Given the description of an element on the screen output the (x, y) to click on. 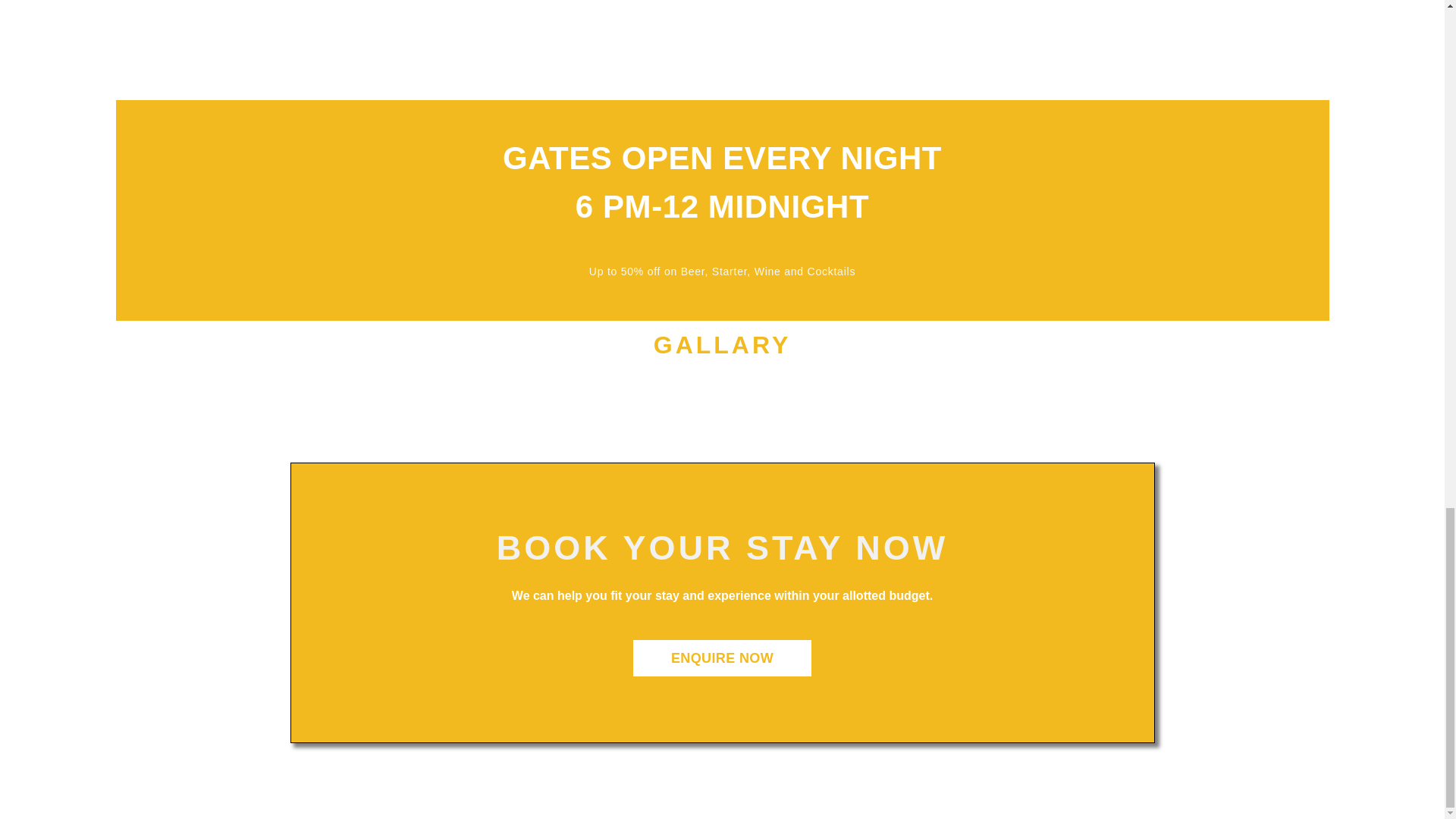
ENQUIRE NOW (721, 658)
